Given the description of an element on the screen output the (x, y) to click on. 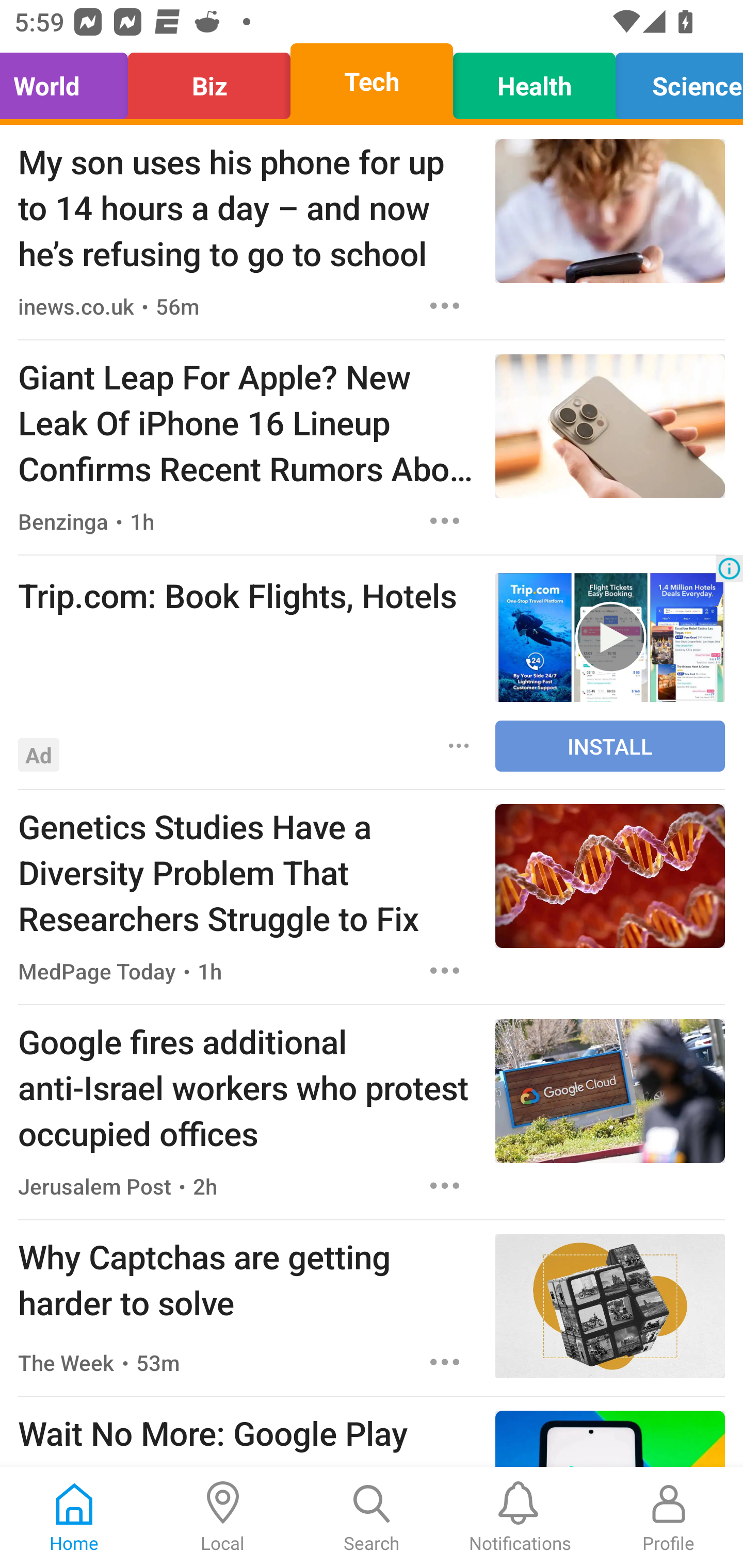
World (69, 81)
Biz (209, 81)
Tech (371, 81)
Health (534, 81)
Science (673, 81)
Options (444, 305)
Options (444, 520)
Ad Choices Icon (729, 568)
Trip.com: Book Flights, Hotels (247, 594)
INSTALL (610, 746)
Options (459, 745)
Options (444, 970)
Options (444, 1185)
Options (444, 1362)
Local (222, 1517)
Search (371, 1517)
Notifications (519, 1517)
Profile (668, 1517)
